Given the description of an element on the screen output the (x, y) to click on. 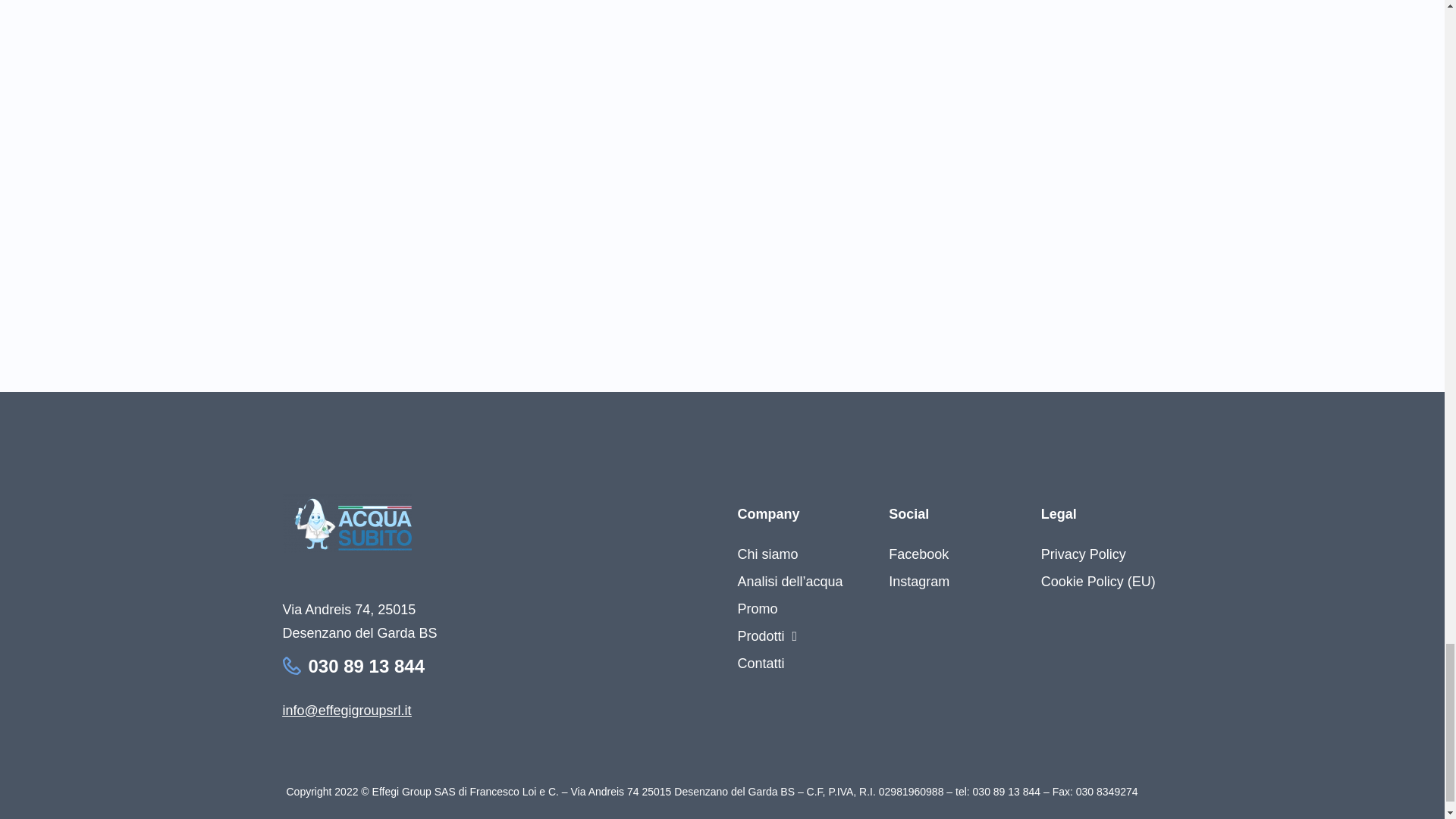
Facebook (918, 554)
Chi siamo (789, 554)
Instagram (918, 581)
Privacy Policy (1098, 554)
Promo (789, 608)
Contatti (789, 663)
Prodotti (789, 636)
030 89 13 844 (365, 666)
